Given the description of an element on the screen output the (x, y) to click on. 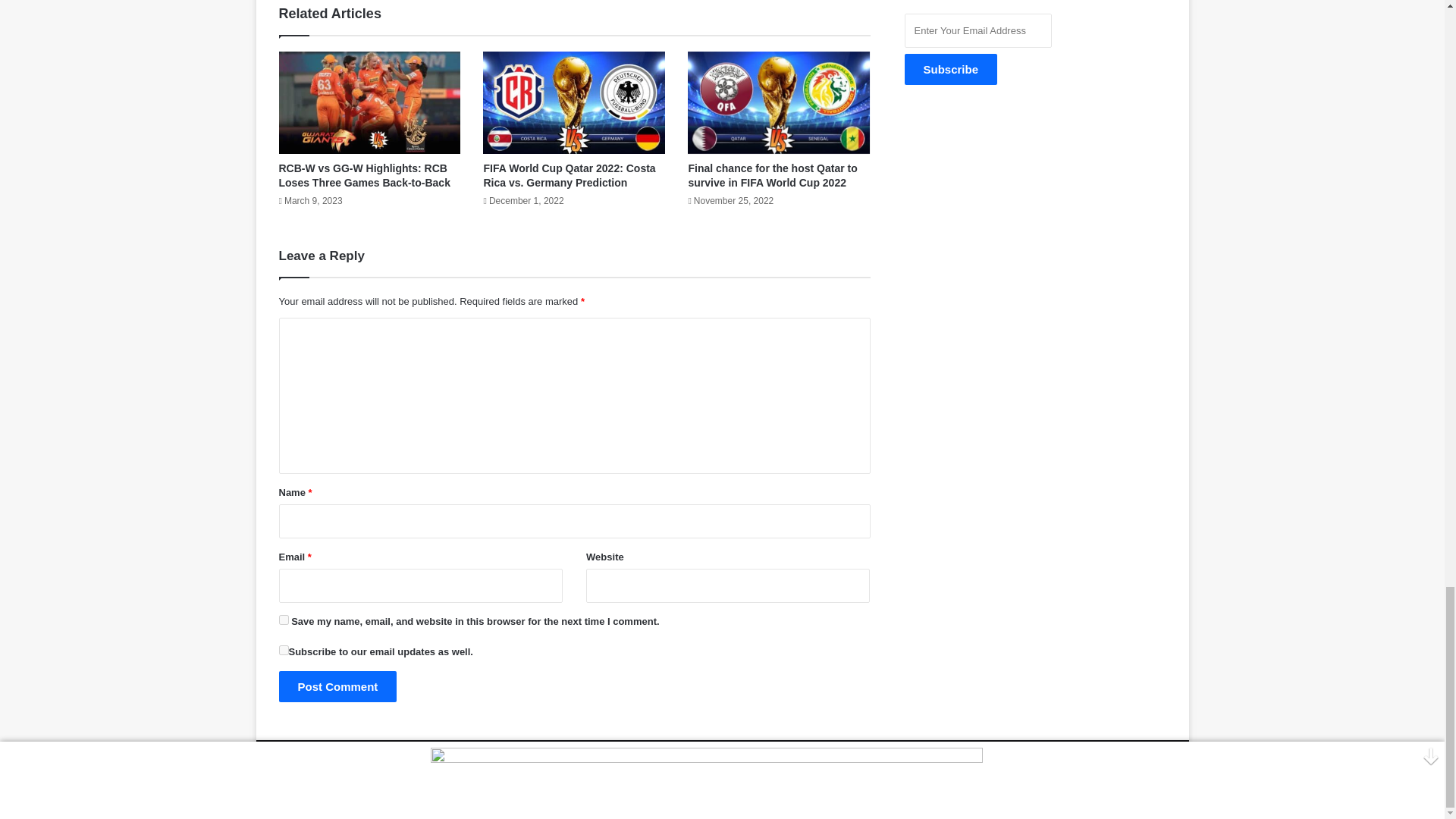
yes (283, 619)
Post Comment (338, 685)
yes (283, 650)
Subscribe (950, 69)
